Given the description of an element on the screen output the (x, y) to click on. 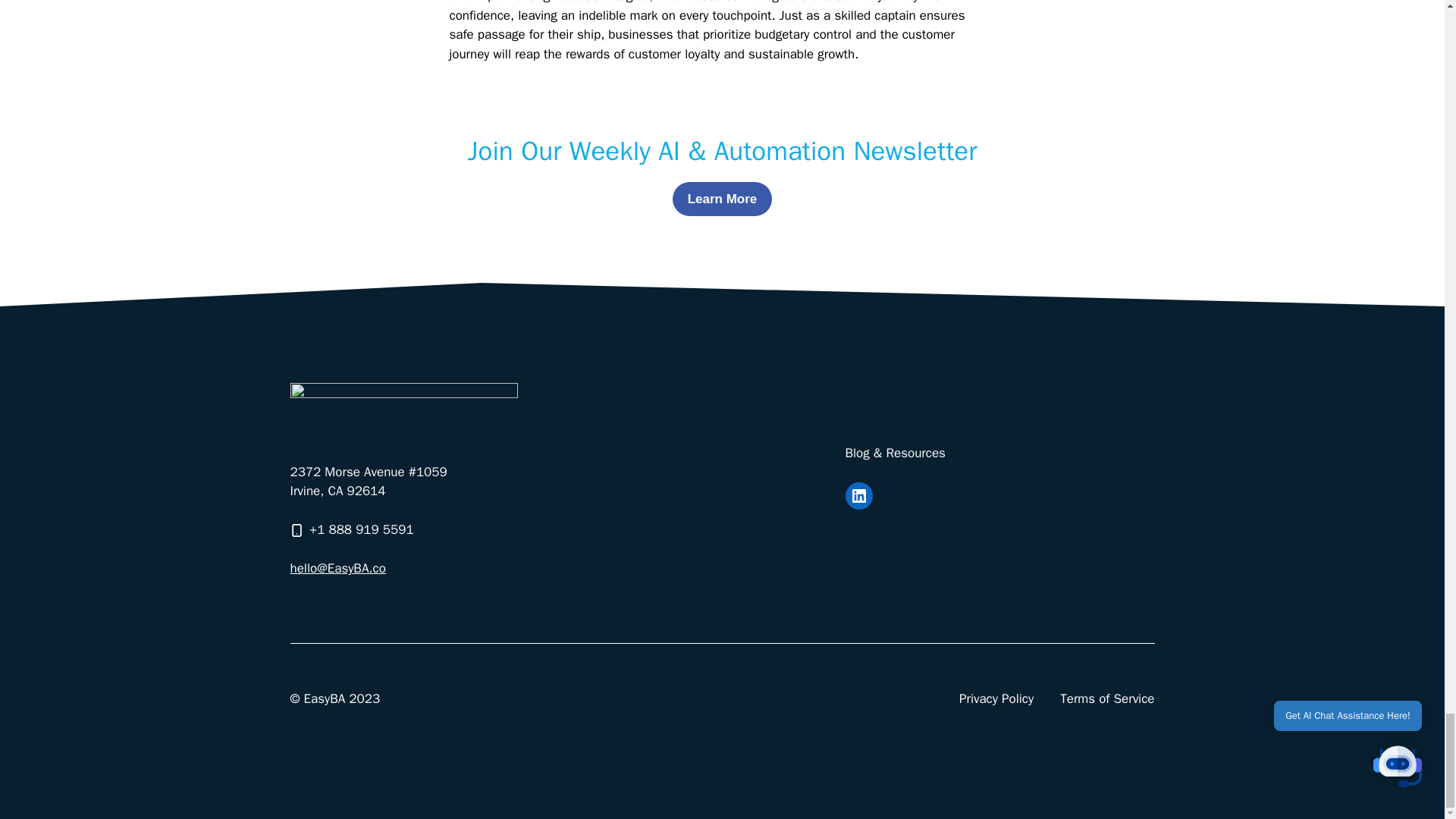
Learn More (722, 199)
Terms of Service (1106, 699)
LinkedIn (858, 495)
Privacy Policy (996, 699)
